Given the description of an element on the screen output the (x, y) to click on. 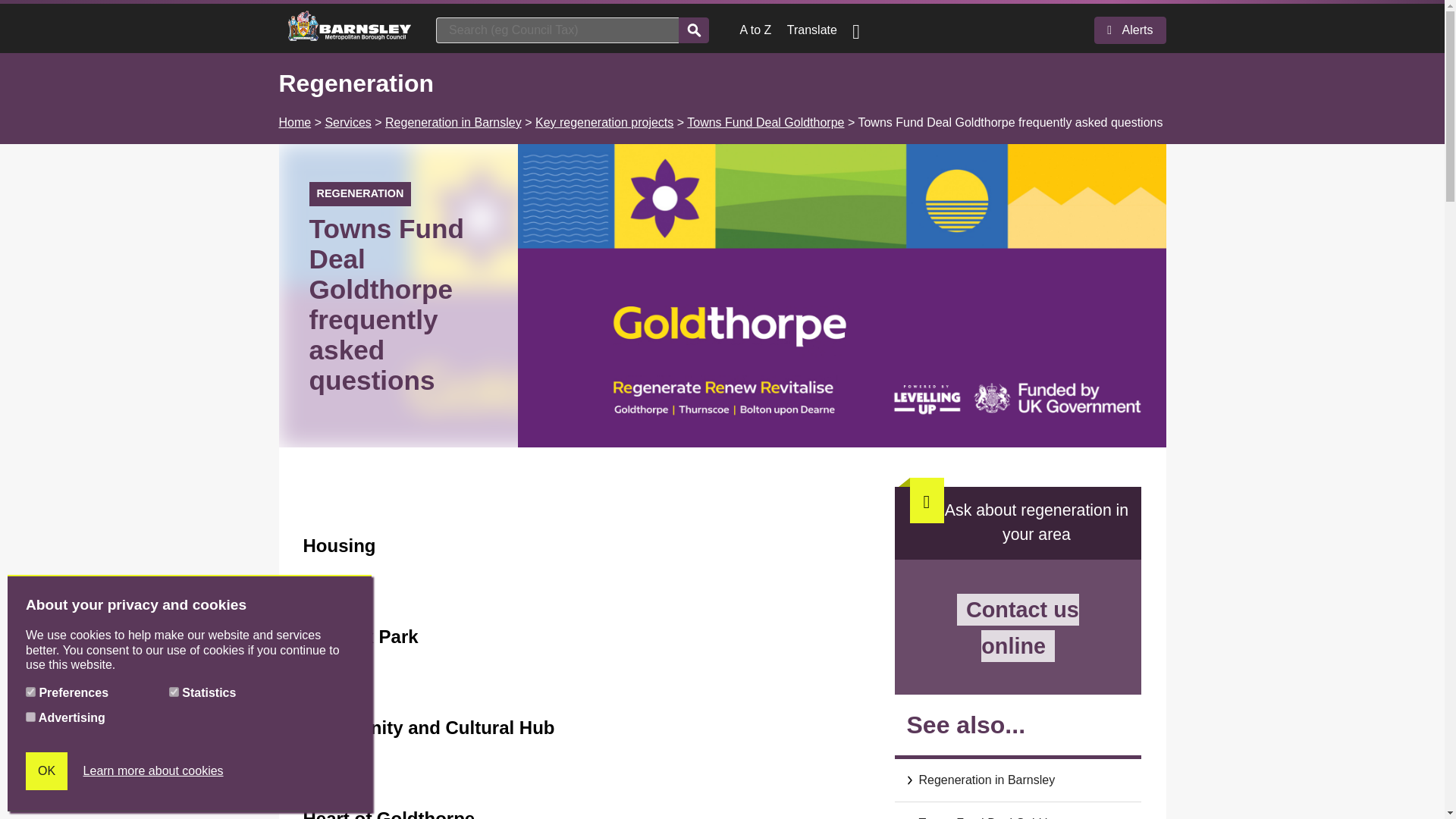
Regeneration in Barnsley (453, 122)
A to Z (755, 29)
Learn more about cookies (153, 771)
True (173, 691)
Translate (812, 29)
Home (295, 122)
Towns Fund Deal Goldthorpe (765, 122)
Alerts (1130, 30)
Services (347, 122)
OK (46, 771)
OK (46, 771)
Key regeneration projects (603, 122)
True (30, 691)
